Given the description of an element on the screen output the (x, y) to click on. 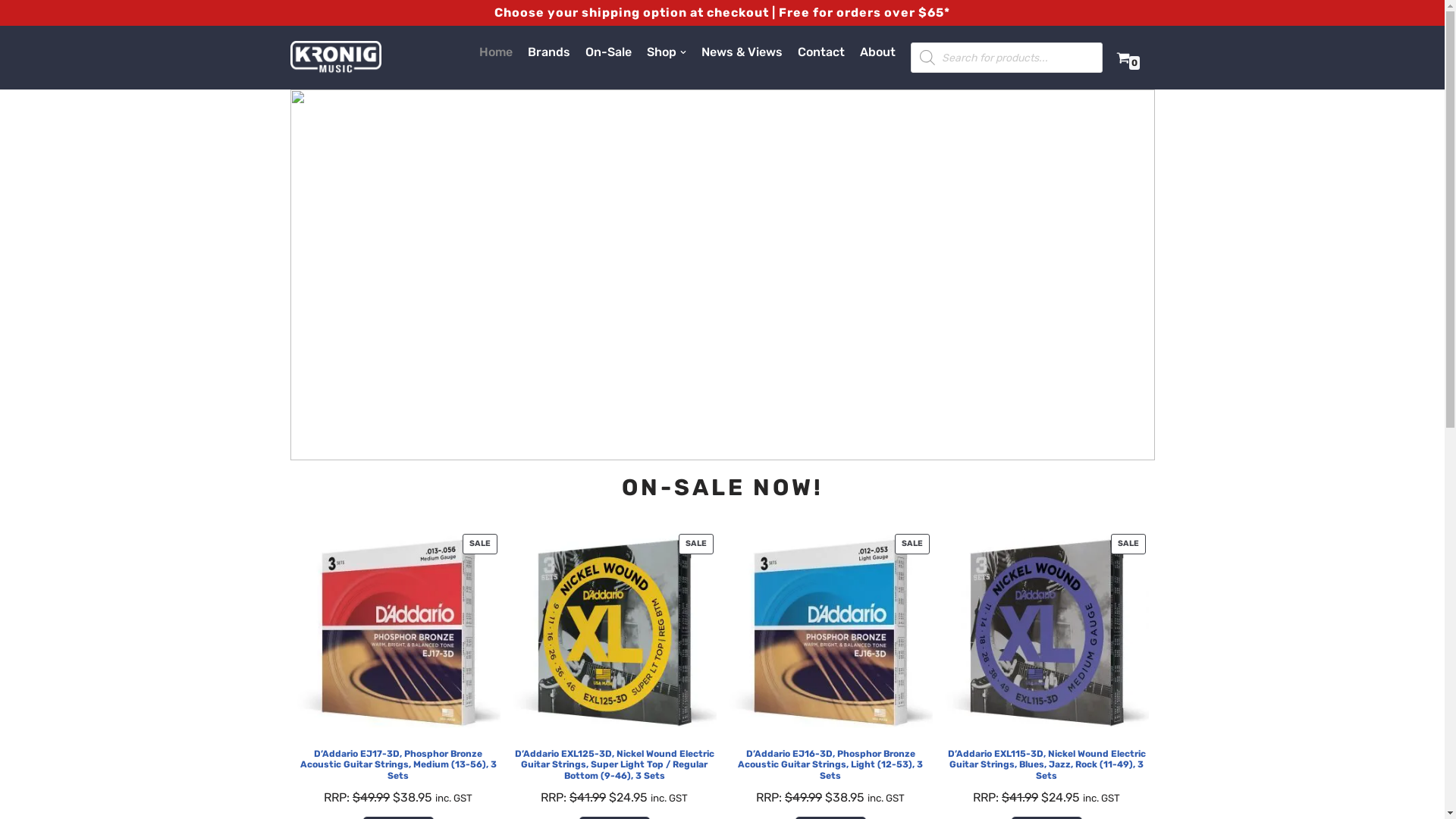
Shop Element type: text (665, 51)
Skip to content Element type: text (11, 31)
About Element type: text (877, 51)
Kronig Music Element type: hover (334, 57)
News & Views Element type: text (740, 51)
On-Sale Element type: text (608, 51)
0 Element type: text (1122, 57)
Contact Element type: text (820, 51)
Brands Element type: text (548, 51)
Home Element type: text (495, 51)
